Given the description of an element on the screen output the (x, y) to click on. 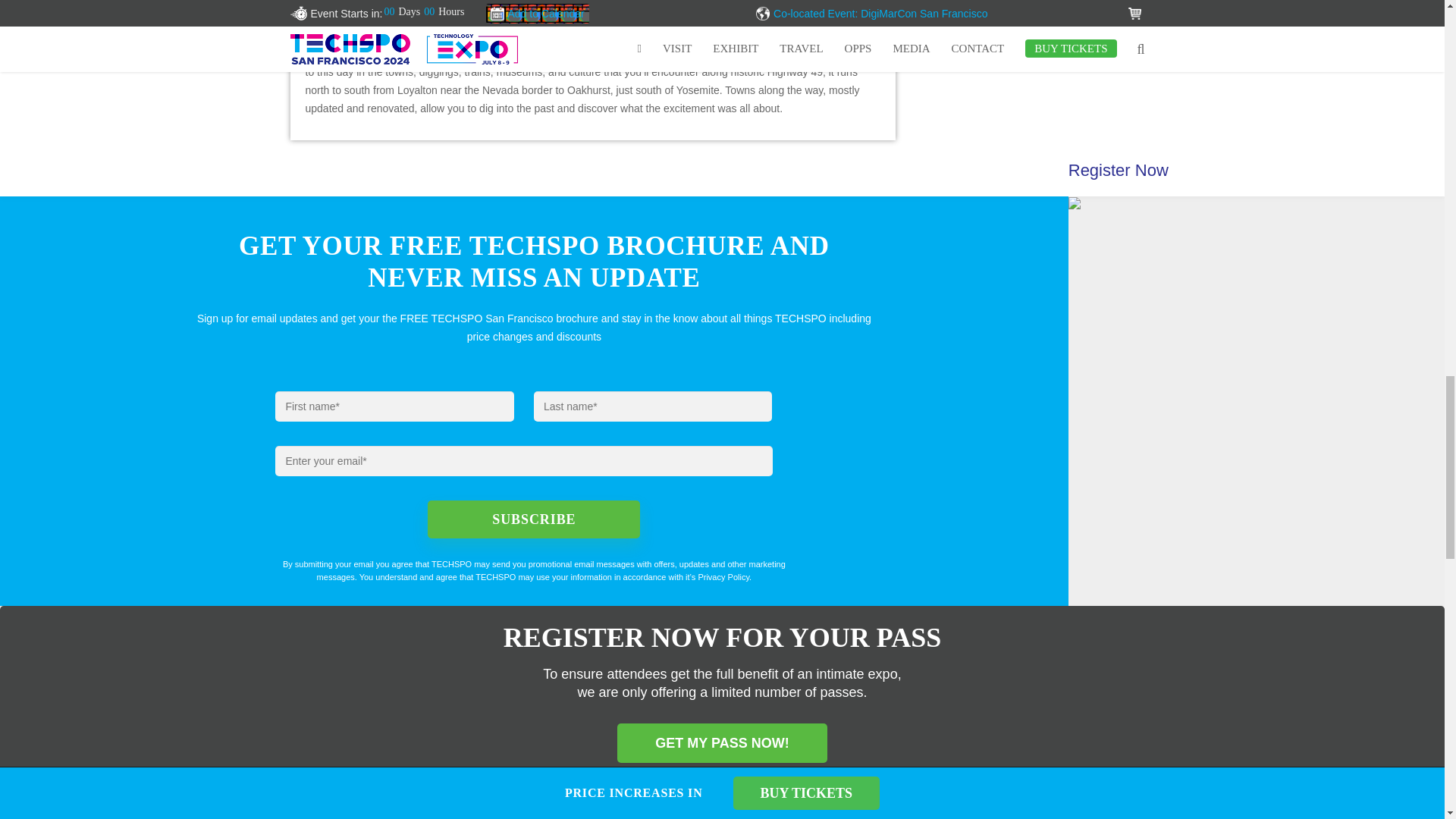
SUBSCRIBE (534, 519)
